Given the description of an element on the screen output the (x, y) to click on. 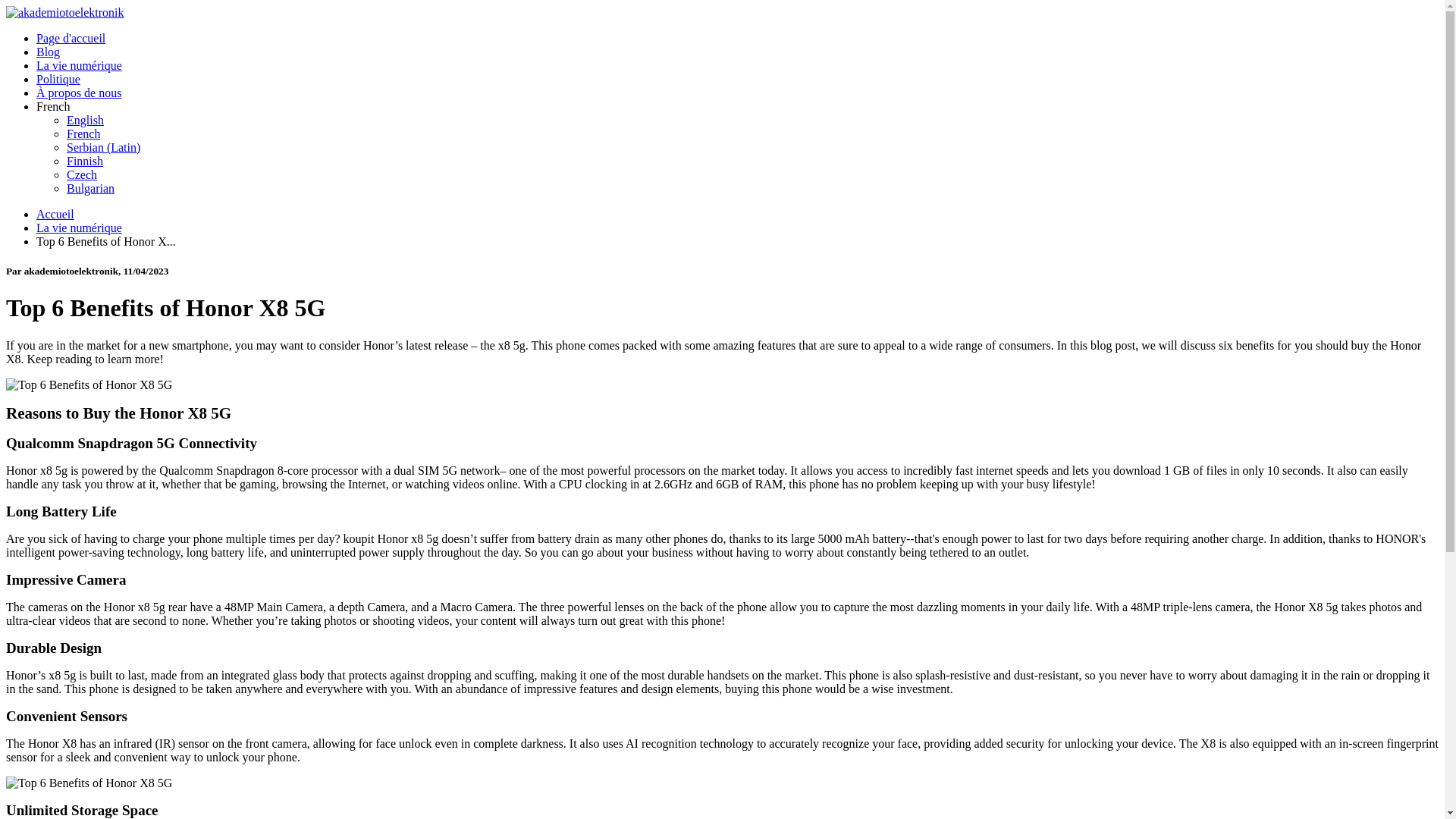
Blog (47, 51)
French (52, 106)
Blog (47, 51)
Page d'accueil (70, 38)
Politique (58, 78)
Top 6 Benefits of Honor X8 5G (88, 385)
English (84, 119)
Accueil (55, 214)
Finnish (84, 160)
Bulgarian (90, 187)
